Given the description of an element on the screen output the (x, y) to click on. 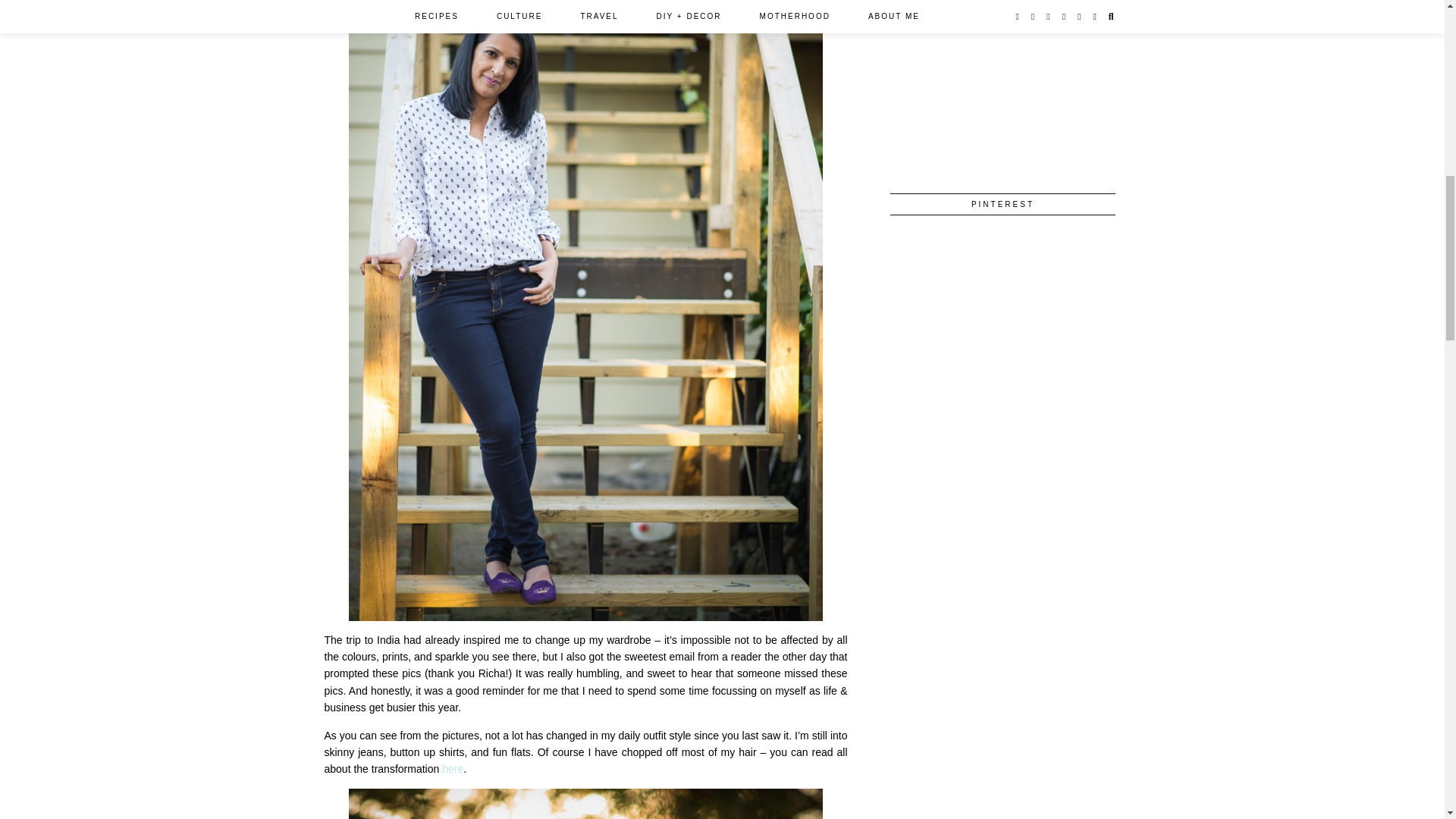
here (452, 768)
